Given the description of an element on the screen output the (x, y) to click on. 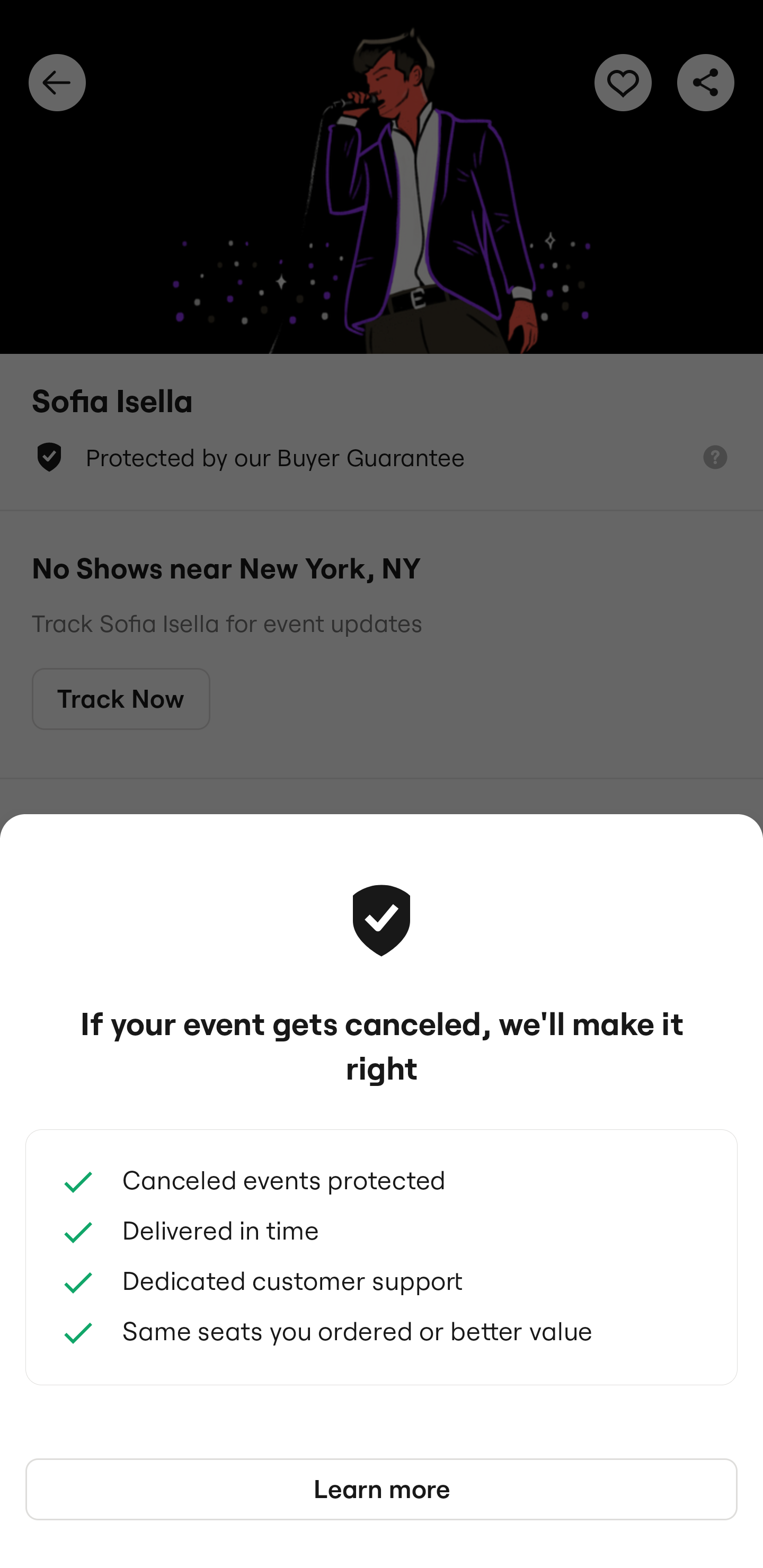
Learn more (381, 1489)
